Given the description of an element on the screen output the (x, y) to click on. 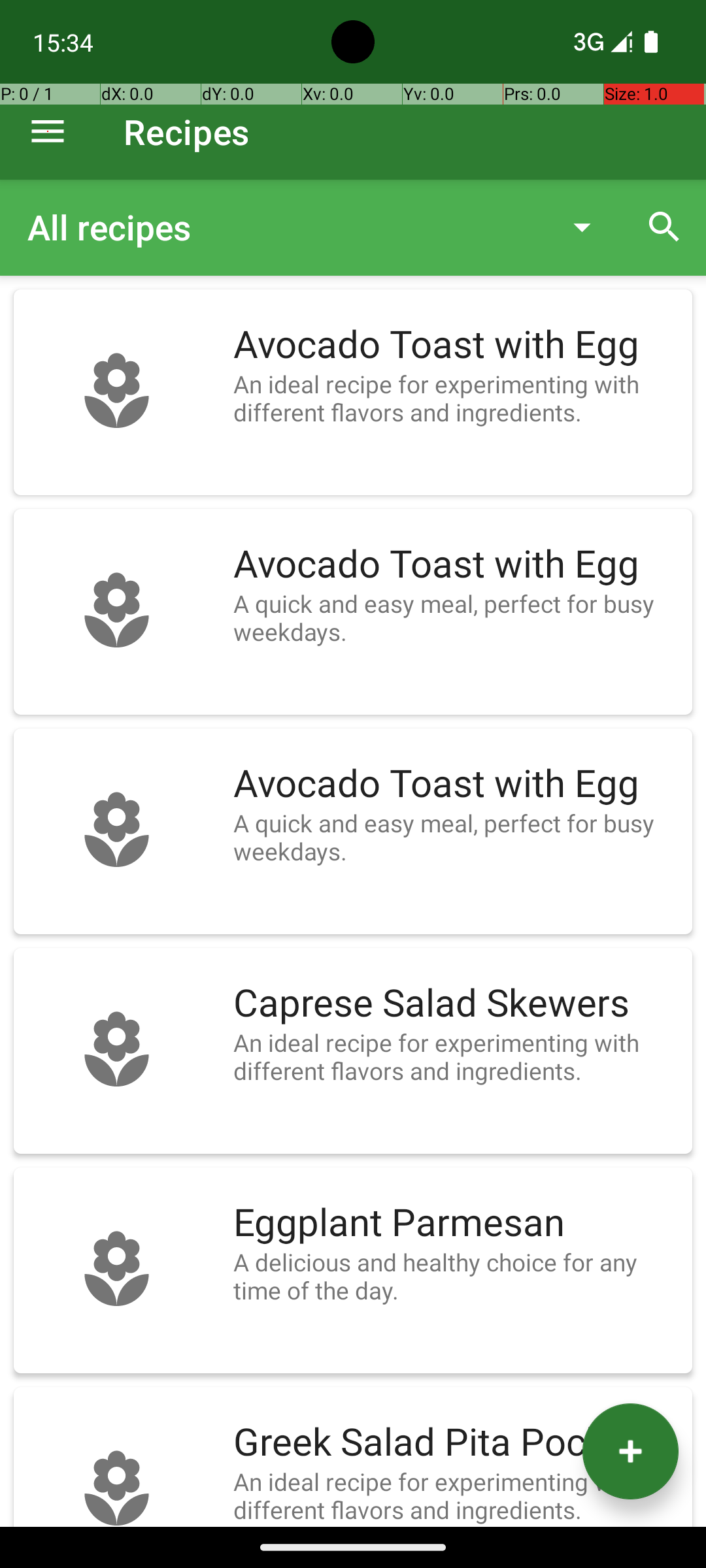
Recipes Element type: android.widget.TextView (186, 131)
Categories Element type: android.widget.Spinner (324, 227)
New Recipe Element type: android.widget.ImageButton (630, 1451)
All recipes Element type: android.widget.TextView (283, 226)
Recipe photo Element type: android.widget.ImageView (116, 392)
Avocado Toast with Egg Element type: android.widget.TextView (455, 344)
An ideal recipe for experimenting with different flavors and ingredients. Element type: android.widget.TextView (455, 397)
A quick and easy meal, perfect for busy weekdays. Element type: android.widget.TextView (455, 617)
Caprese Salad Skewers Element type: android.widget.TextView (455, 1003)
Eggplant Parmesan Element type: android.widget.TextView (455, 1222)
A delicious and healthy choice for any time of the day. Element type: android.widget.TextView (455, 1275)
Greek Salad Pita Pockets Element type: android.widget.TextView (455, 1442)
